Given the description of an element on the screen output the (x, y) to click on. 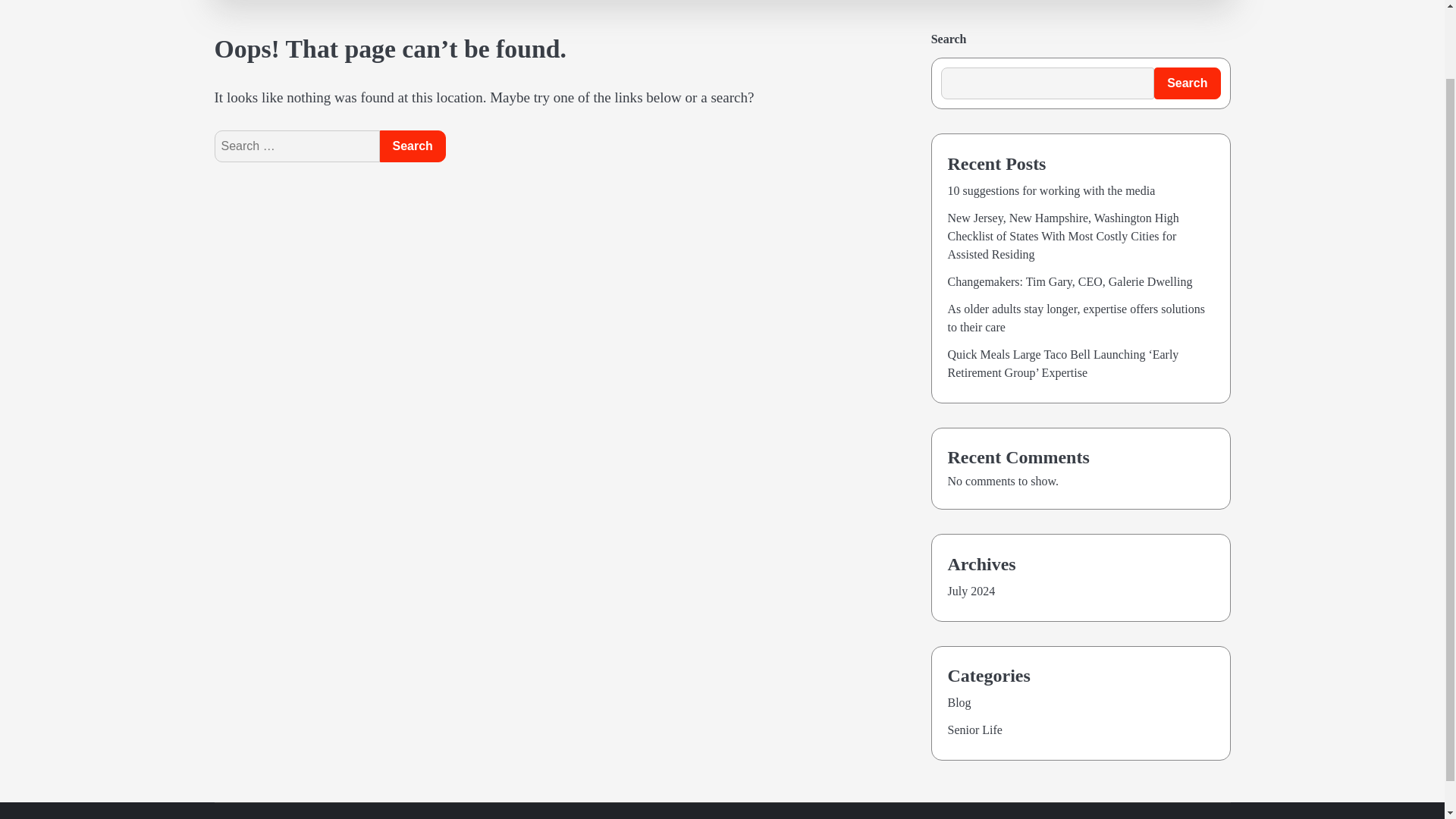
Blog (959, 702)
Senior Life (975, 729)
Search (411, 146)
Search (411, 146)
Changemakers: Tim Gary, CEO, Galerie Dwelling (1069, 281)
Search (411, 146)
Search (1187, 83)
10 suggestions for working with the media (1051, 190)
July 2024 (971, 590)
Search (1175, 14)
